Given the description of an element on the screen output the (x, y) to click on. 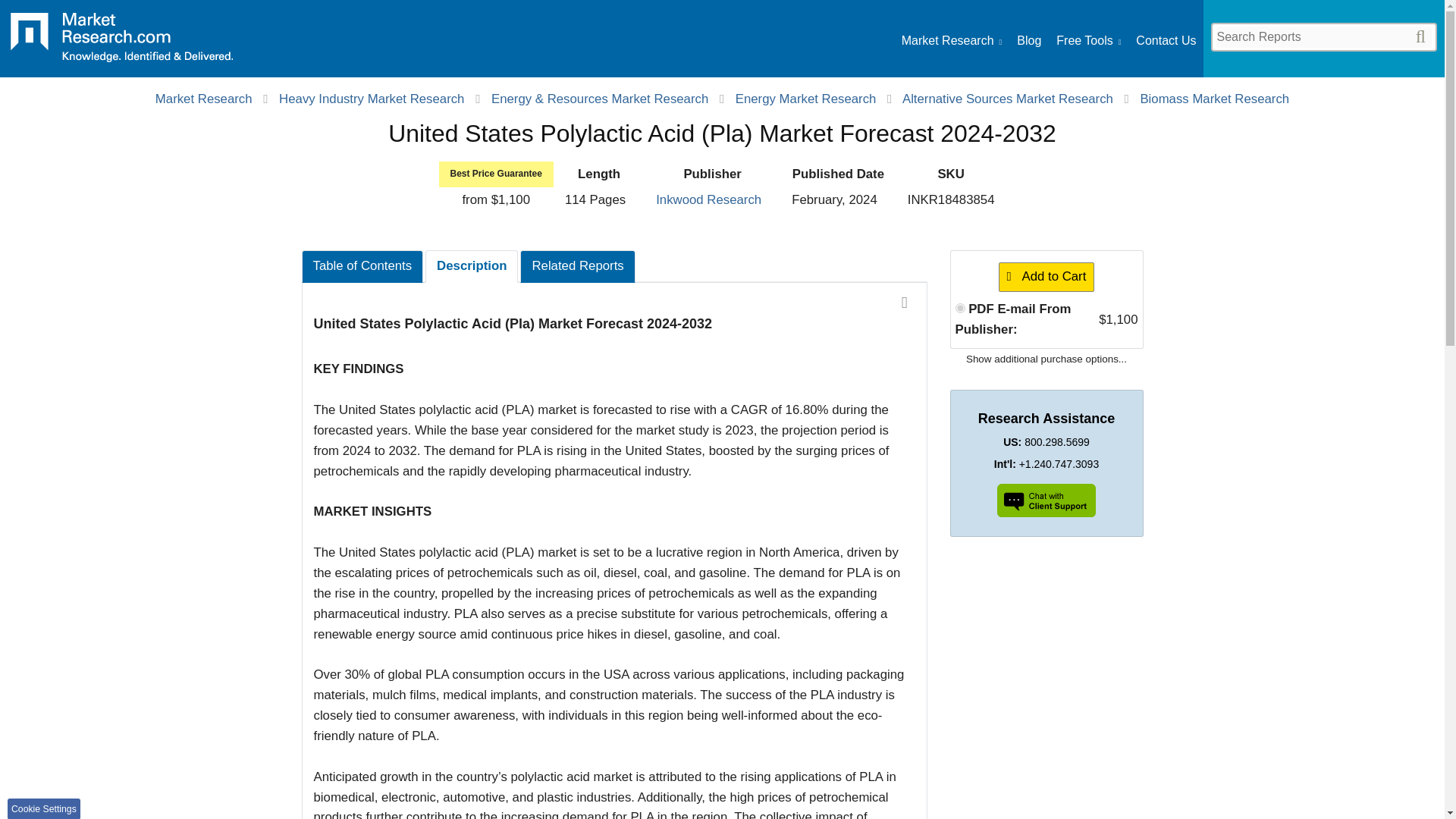
Contact Us (1165, 40)
Market Research (951, 40)
Alternative Sources Market Research (1007, 98)
Learn more about market research with these free tools (1089, 40)
Description (471, 266)
Table of Contents (362, 266)
Free Tools (1089, 40)
Browse Market Research Industries (951, 40)
Market Research (121, 42)
Related Reports (576, 266)
Market Research (203, 98)
Biomass Market Research (1214, 98)
Energy Market Research (805, 98)
Get in touch with MarketResearch.com (1165, 40)
36011031 (960, 307)
